Given the description of an element on the screen output the (x, y) to click on. 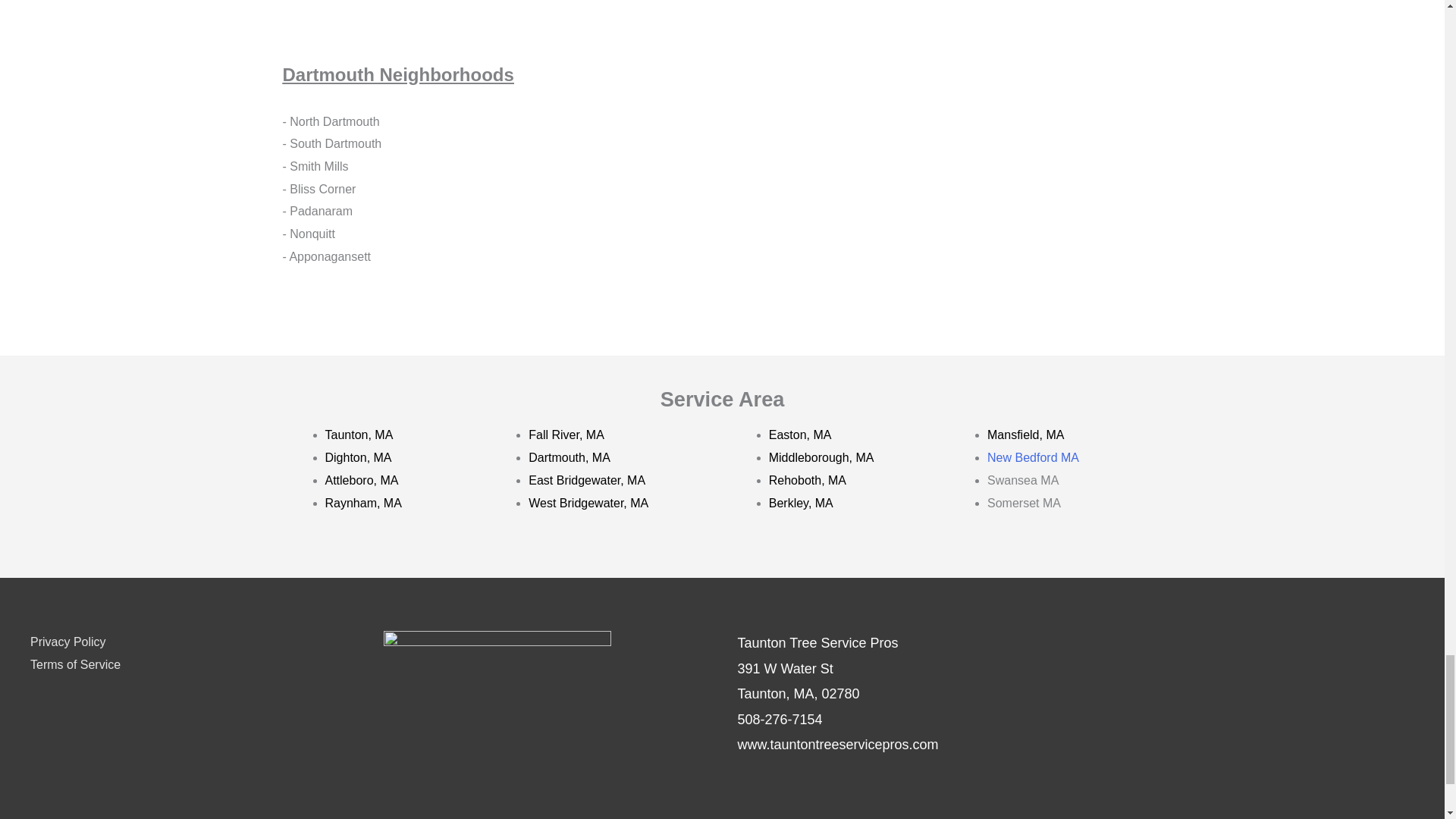
Fall River, MA (566, 434)
Dartmouth, MA (569, 457)
